Given the description of an element on the screen output the (x, y) to click on. 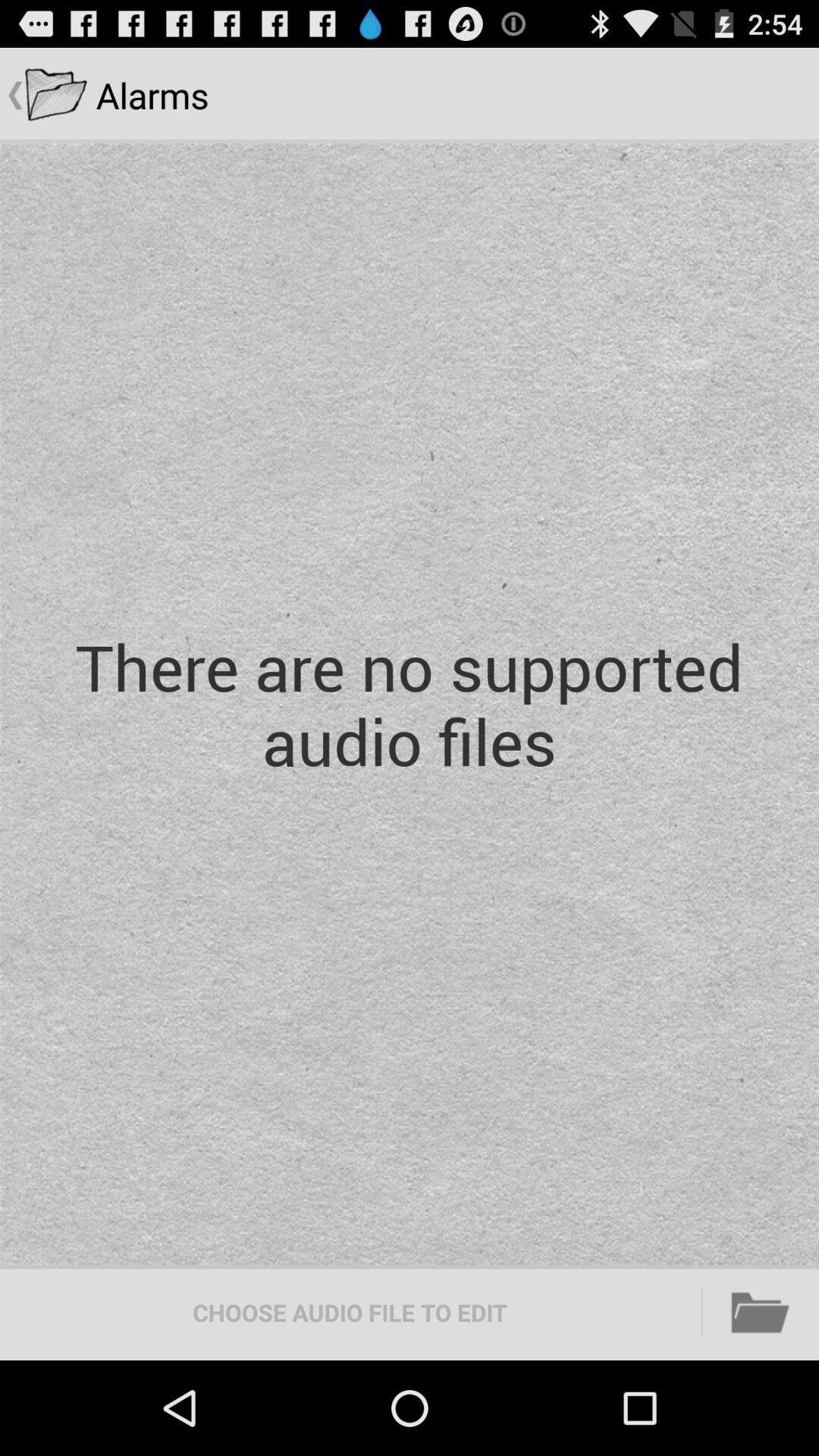
choose item below there are no item (760, 1312)
